Given the description of an element on the screen output the (x, y) to click on. 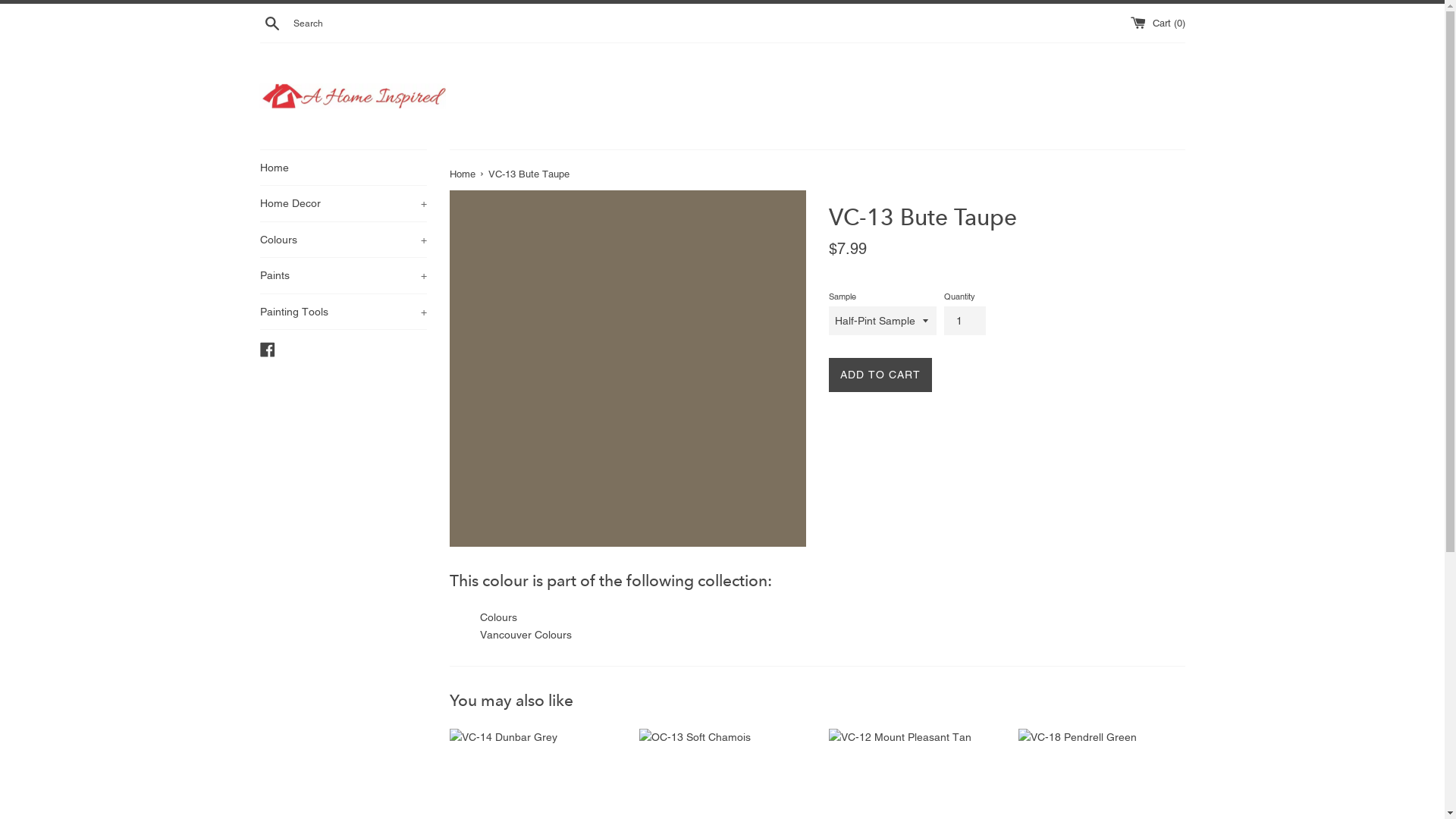
Vancouver Colours Element type: text (525, 634)
Search Element type: text (271, 22)
Home Decor
+ Element type: text (342, 202)
Colours Element type: text (497, 617)
Home Element type: text (462, 173)
Paints
+ Element type: text (342, 274)
Cart (0) Element type: text (1156, 22)
ADD TO CART Element type: text (879, 374)
Home Element type: text (342, 167)
Colours
+ Element type: text (342, 239)
Facebook Element type: text (266, 348)
Painting Tools
+ Element type: text (342, 311)
